Given the description of an element on the screen output the (x, y) to click on. 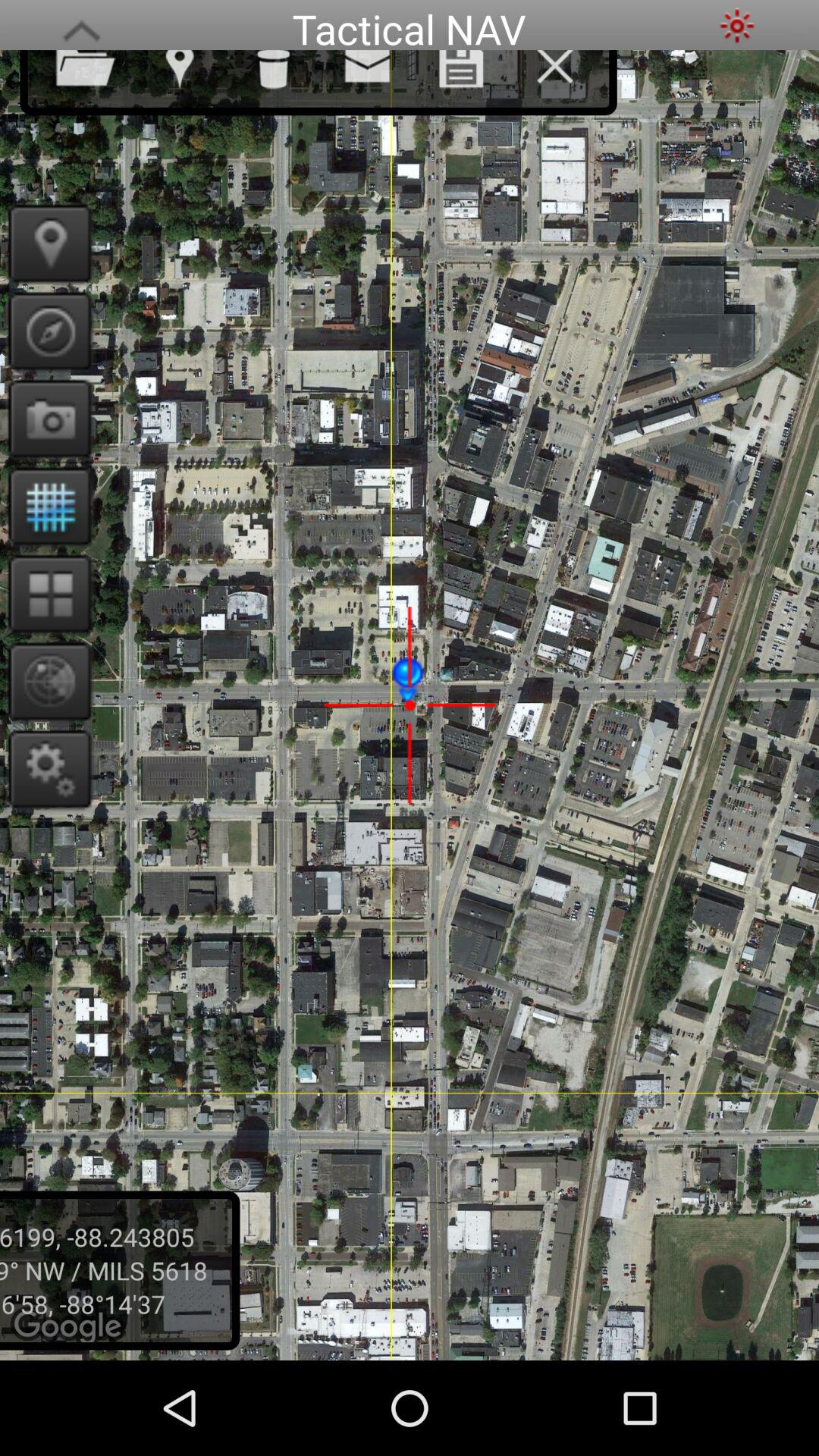
use my location (45, 243)
